Given the description of an element on the screen output the (x, y) to click on. 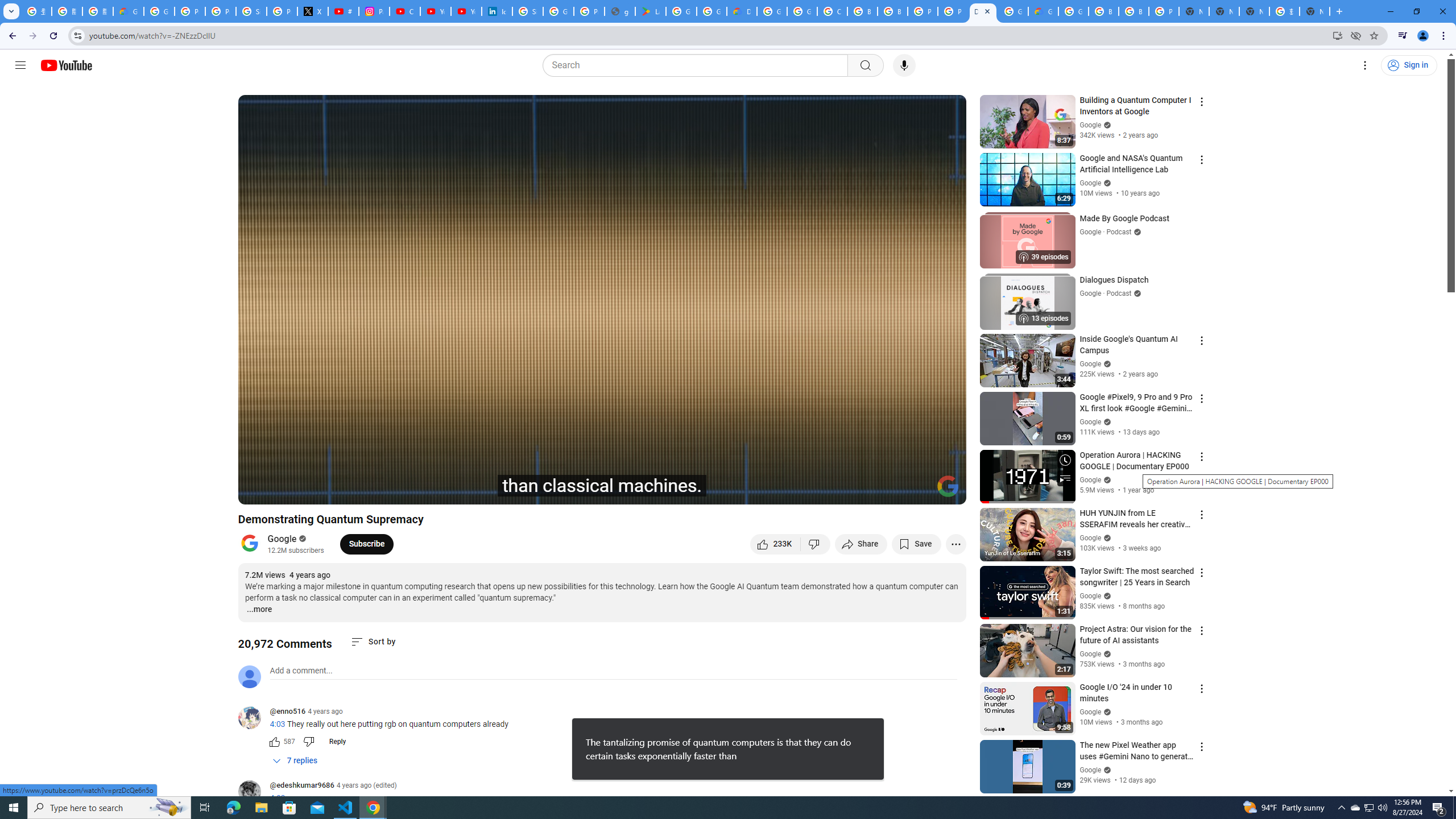
Default profile photo (248, 676)
YouTube Home (66, 65)
Last Shelter: Survival - Apps on Google Play (650, 11)
X (312, 11)
4 years ago (325, 710)
Full screen keyboard shortcut f (945, 490)
Next (SHIFT+n) (284, 490)
